Given the description of an element on the screen output the (x, y) to click on. 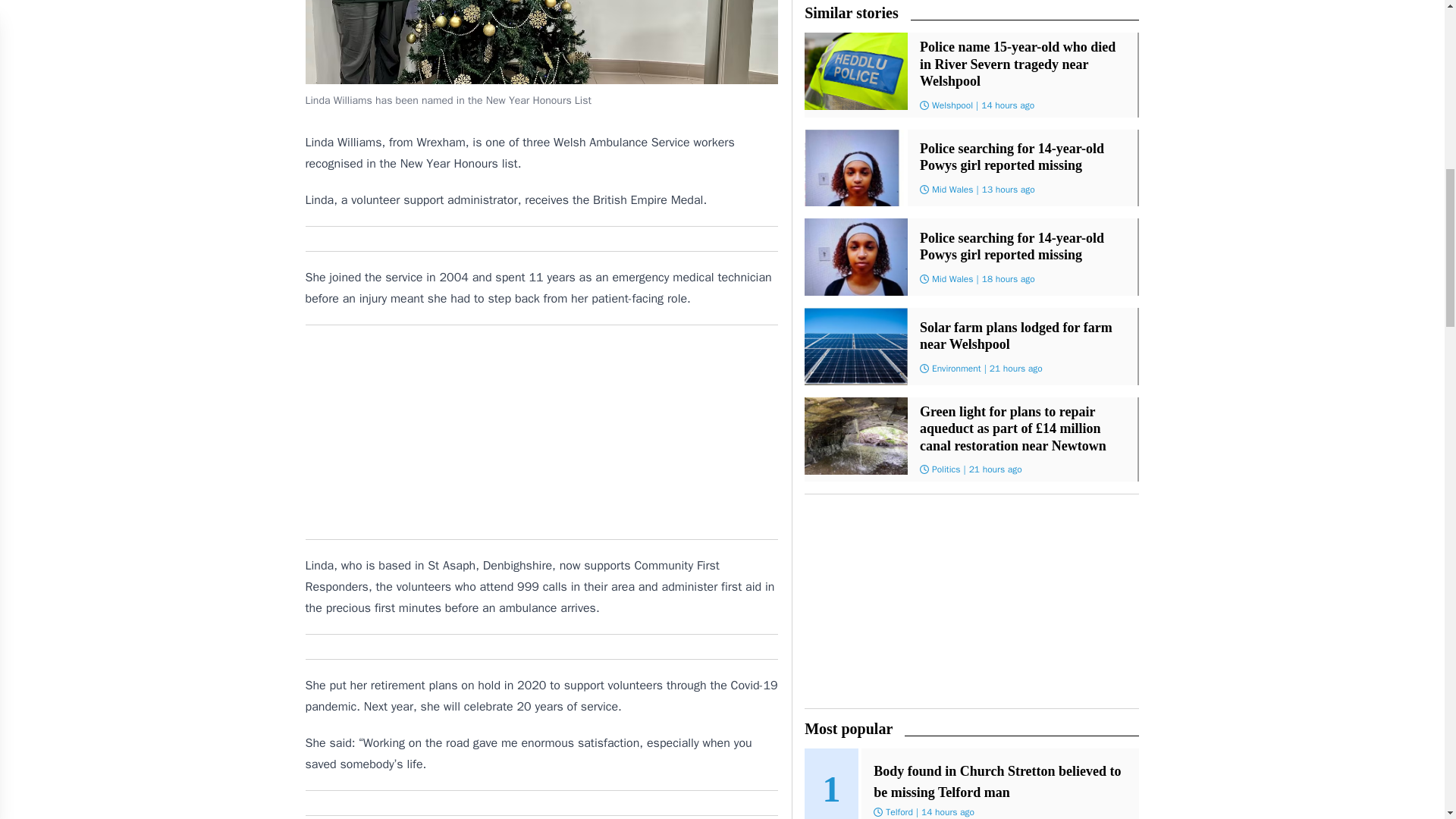
Politics (945, 469)
Telford (898, 811)
Environment (956, 368)
Mid Wales (952, 189)
Mid Wales (952, 278)
Welshpool (951, 104)
